Given the description of an element on the screen output the (x, y) to click on. 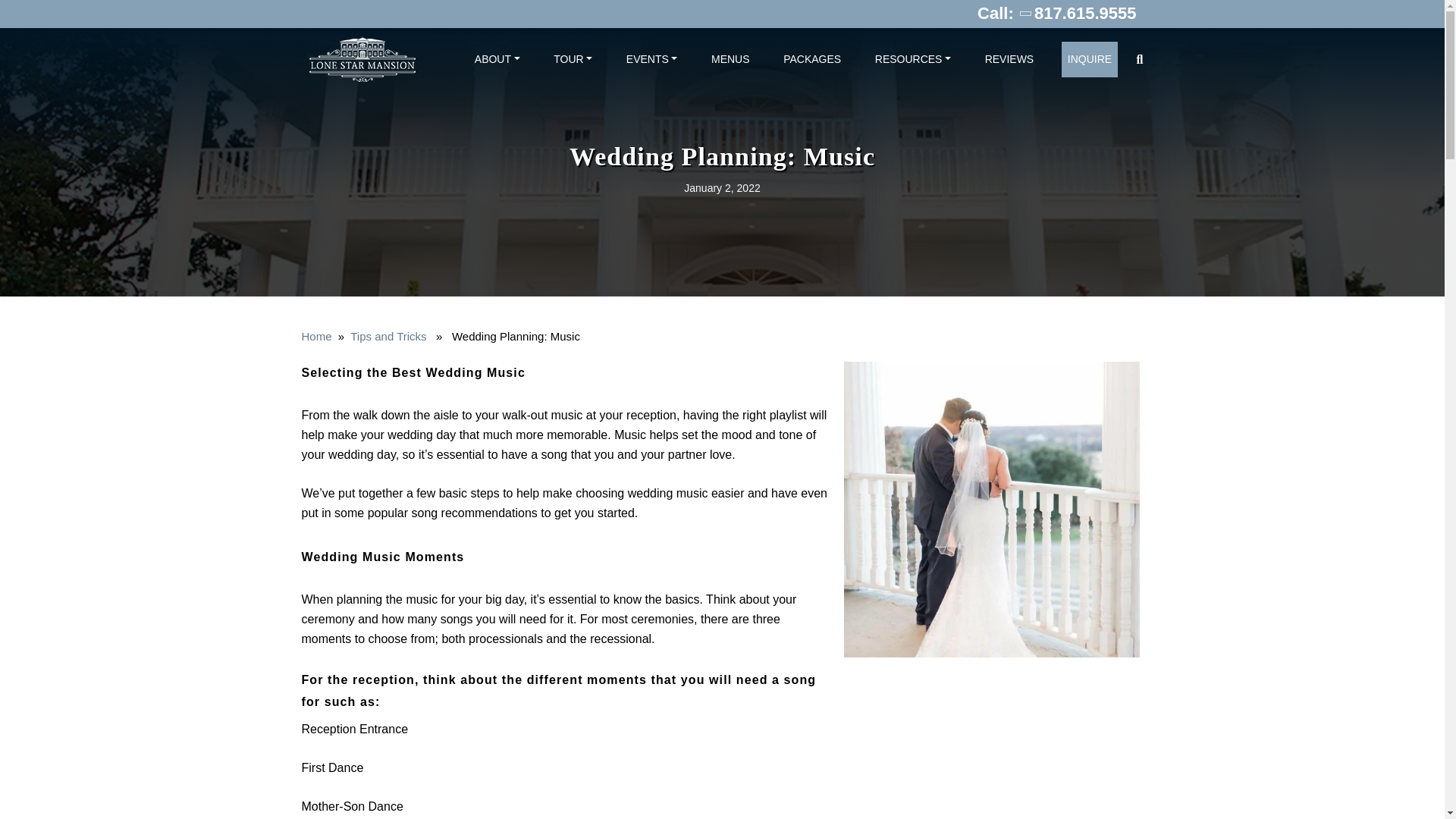
INQUIRE (1089, 58)
Events (652, 58)
TOUR (572, 58)
MENUS (729, 58)
Resources (912, 58)
REVIEWS (1009, 58)
ABOUT (496, 58)
Tour (572, 58)
Home (316, 336)
PACKAGES (812, 58)
Call: 817.615.9555 (1057, 13)
January 2, 2022 (722, 187)
Tips and Tricks (388, 336)
About (496, 58)
RESOURCES (912, 58)
